Given the description of an element on the screen output the (x, y) to click on. 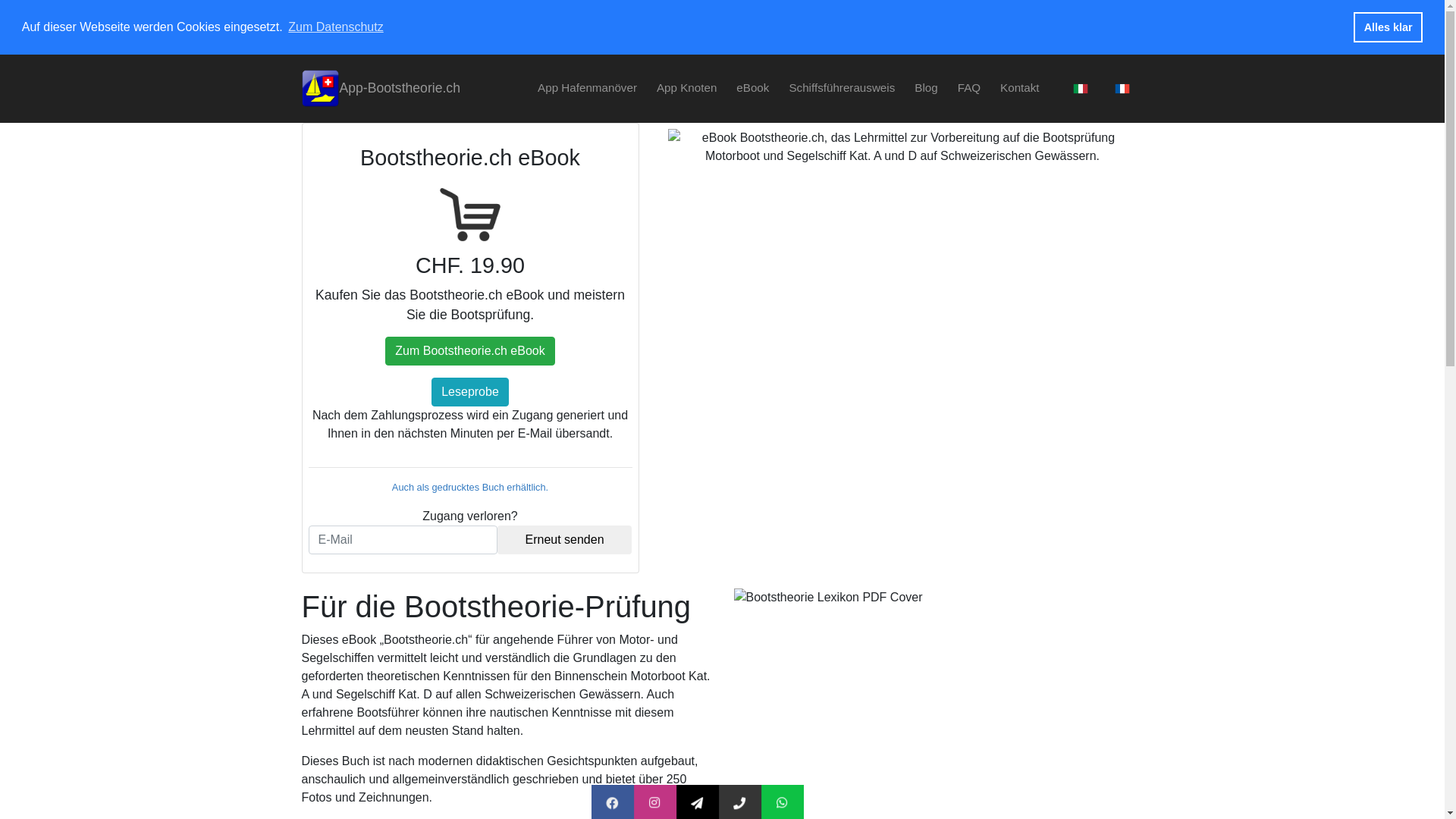
Leseprobe Element type: text (469, 391)
Kontakt Element type: text (1019, 88)
Leseprobe Element type: text (469, 391)
  Element type: text (1118, 88)
Blog Element type: text (925, 88)
eBook Element type: text (752, 88)
FAQ Element type: text (968, 88)
Email schreiben Element type: text (759, 803)
WhatsApp Element type: text (828, 803)
Zum Bootstheorie.ch eBook Element type: text (469, 350)
  Element type: text (1077, 88)
App Knoten Element type: text (686, 88)
Zum Datenschutz Element type: text (335, 26)
Anrufen Element type: text (780, 803)
Instagram Element type: text (700, 803)
Erneut senden Element type: text (564, 539)
App-Bootstheorie.ch Element type: text (380, 88)
Facebook Element type: text (658, 803)
Alles klar Element type: text (1387, 27)
